Given the description of an element on the screen output the (x, y) to click on. 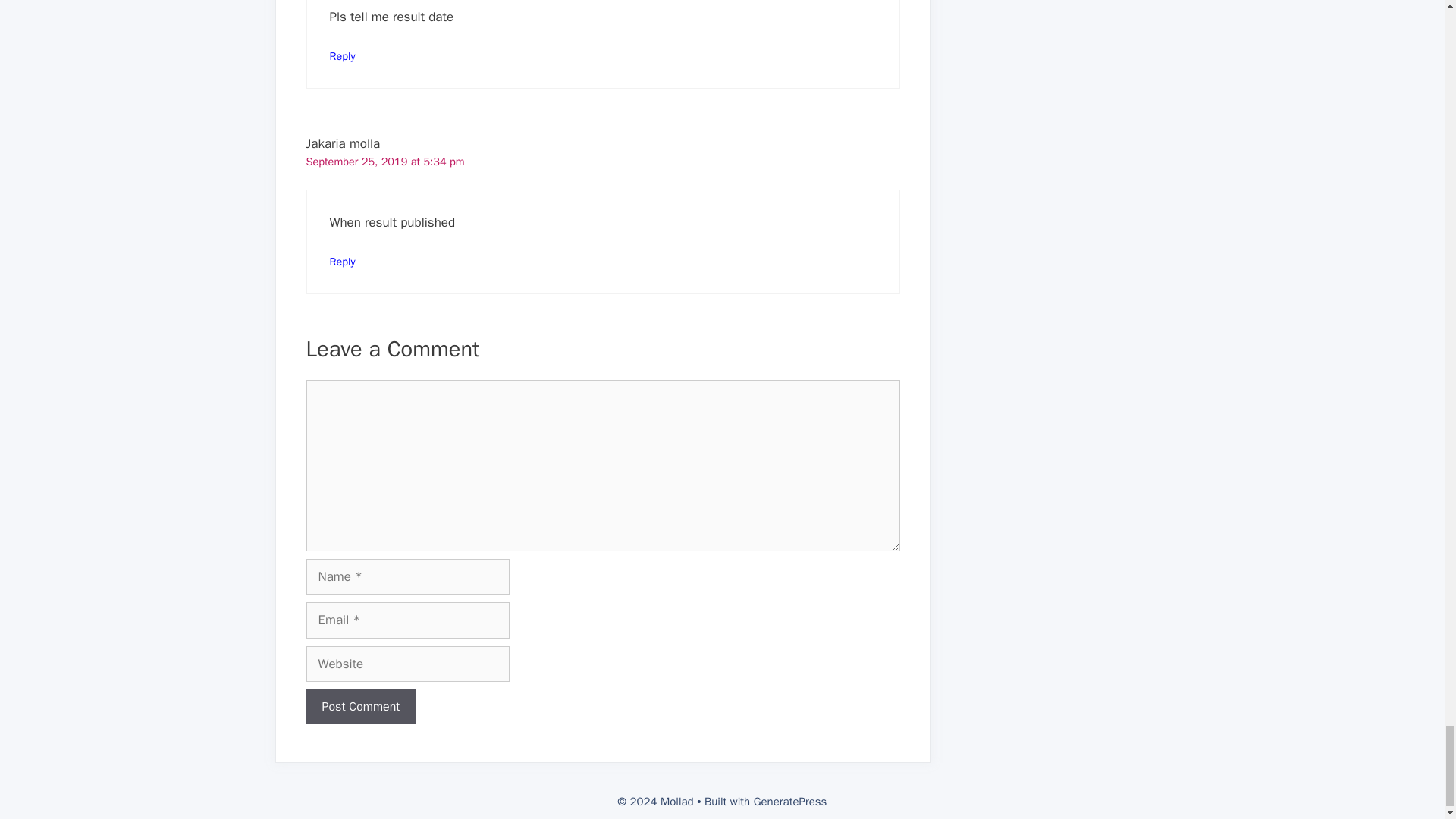
Post Comment (360, 706)
